Given the description of an element on the screen output the (x, y) to click on. 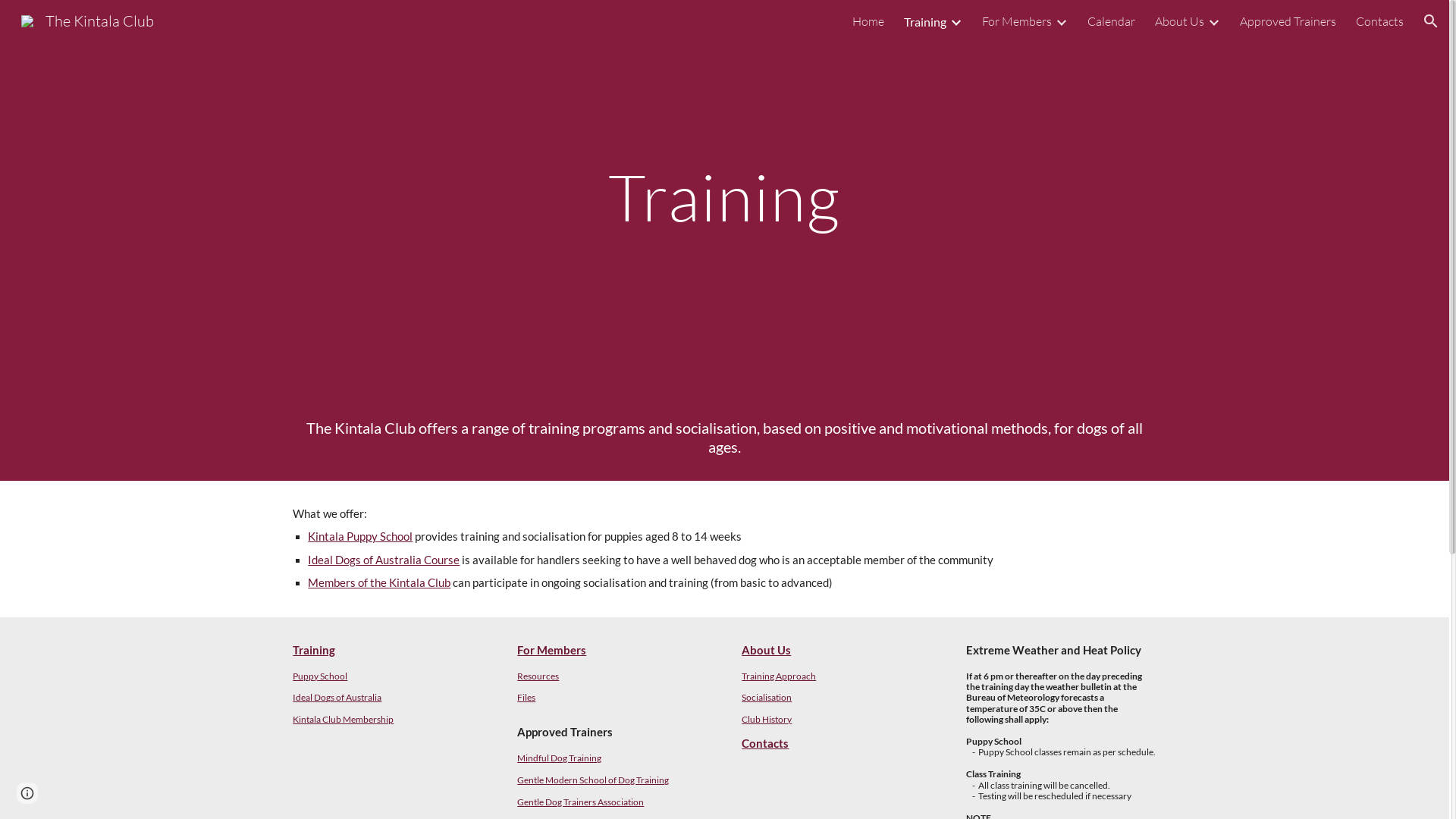
About Us Element type: text (1179, 20)
Contacts Element type: text (1379, 20)
Kintala Club Membership Element type: text (342, 718)
For Members Element type: text (1016, 20)
Ideal Dogs of Australia Course Element type: text (383, 559)
Members of the Kintala Club Element type: text (378, 582)
Files Element type: text (526, 696)
Contacts Element type: text (764, 743)
The Kintala Club Element type: text (87, 18)
Expand/Collapse Element type: hover (1060, 20)
Training Element type: text (313, 649)
Home Element type: text (868, 20)
Puppy School Element type: text (319, 675)
Resources Element type: text (537, 675)
Training Element type: text (924, 20)
Ideal Dogs of Australia Element type: text (336, 696)
Expand/Collapse Element type: hover (1213, 20)
Socialisation Element type: text (766, 696)
Gentle Dog Trainers Association Element type: text (580, 801)
For Members Element type: text (551, 649)
Club History Element type: text (766, 718)
About Us Element type: text (765, 649)
Calendar Element type: text (1111, 20)
Kintala Puppy School Element type: text (359, 536)
Mindful Dog Training Element type: text (559, 757)
Training Approach Element type: text (778, 675)
Approved Trainers Element type: text (1287, 20)
Expand/Collapse Element type: hover (955, 20)
Gentle Modern School of Dog Training Element type: text (592, 779)
